Given the description of an element on the screen output the (x, y) to click on. 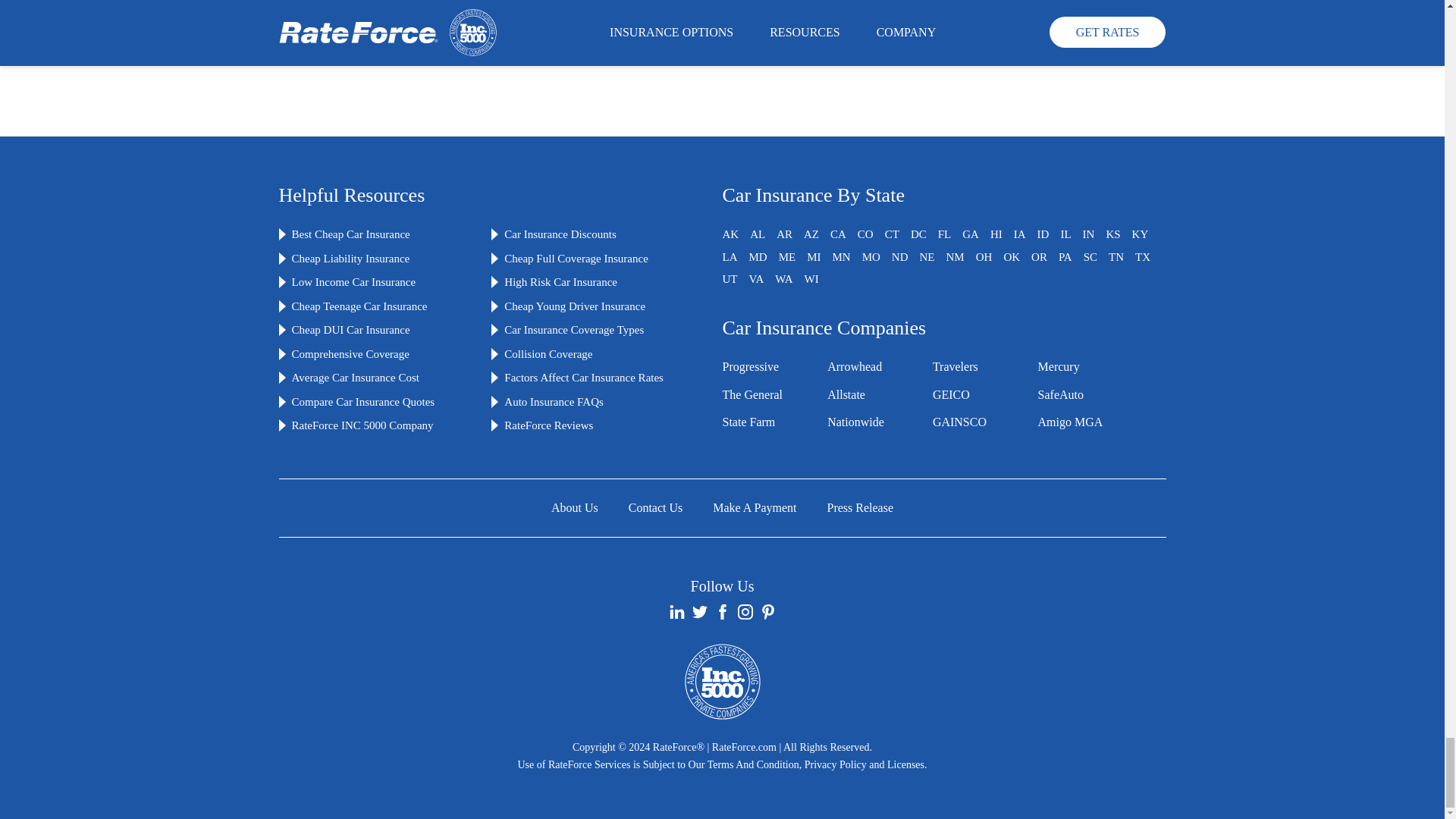
Types of Auto Insurance Discounts (559, 234)
Types of Car Insurance (573, 329)
Cheap Car Insurance Quotes (350, 234)
Comprehensive Auto Insurance Coverage (350, 354)
Car Insurance FAQs (553, 401)
Collision Auto Insurance Coverage (547, 354)
Best Cheap DUI Car Insurance (350, 329)
Factors that Affect Car Insurance Premium (583, 377)
Cheap Car Insurance For Teenage New Drivers (358, 306)
Best High Risk Auto Insurance Companies (560, 282)
